Given the description of an element on the screen output the (x, y) to click on. 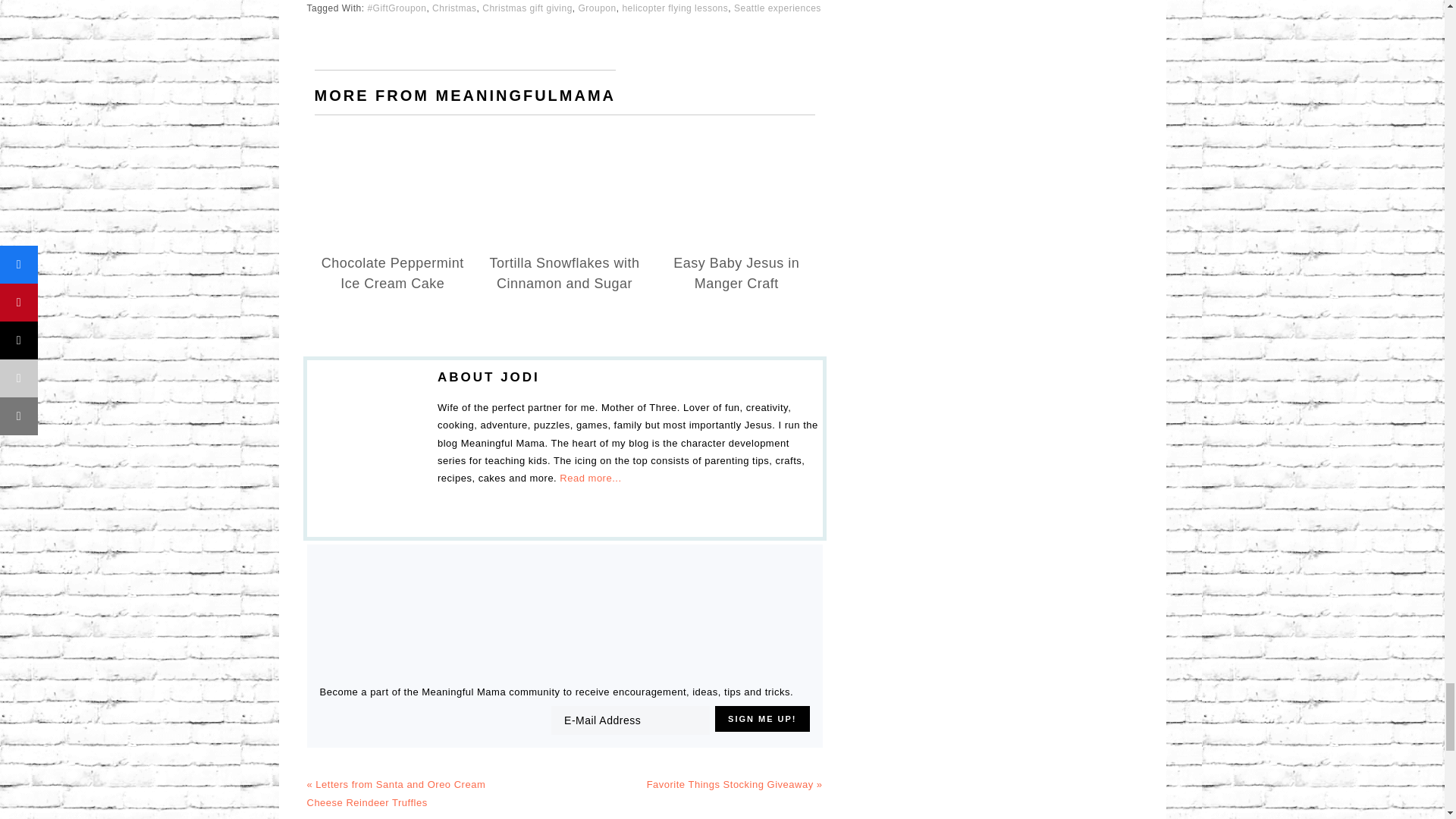
Permanent Link to Chocolate Peppermint Ice Cream Cake (392, 273)
Permanent Link to Easy Baby Jesus in Manger Craft (736, 153)
Permanent Link to Chocolate Peppermint Ice Cream Cake (392, 153)
Sign Me Up! (761, 718)
Permanent Link to Easy Baby Jesus in Manger Craft (735, 273)
